Given the description of an element on the screen output the (x, y) to click on. 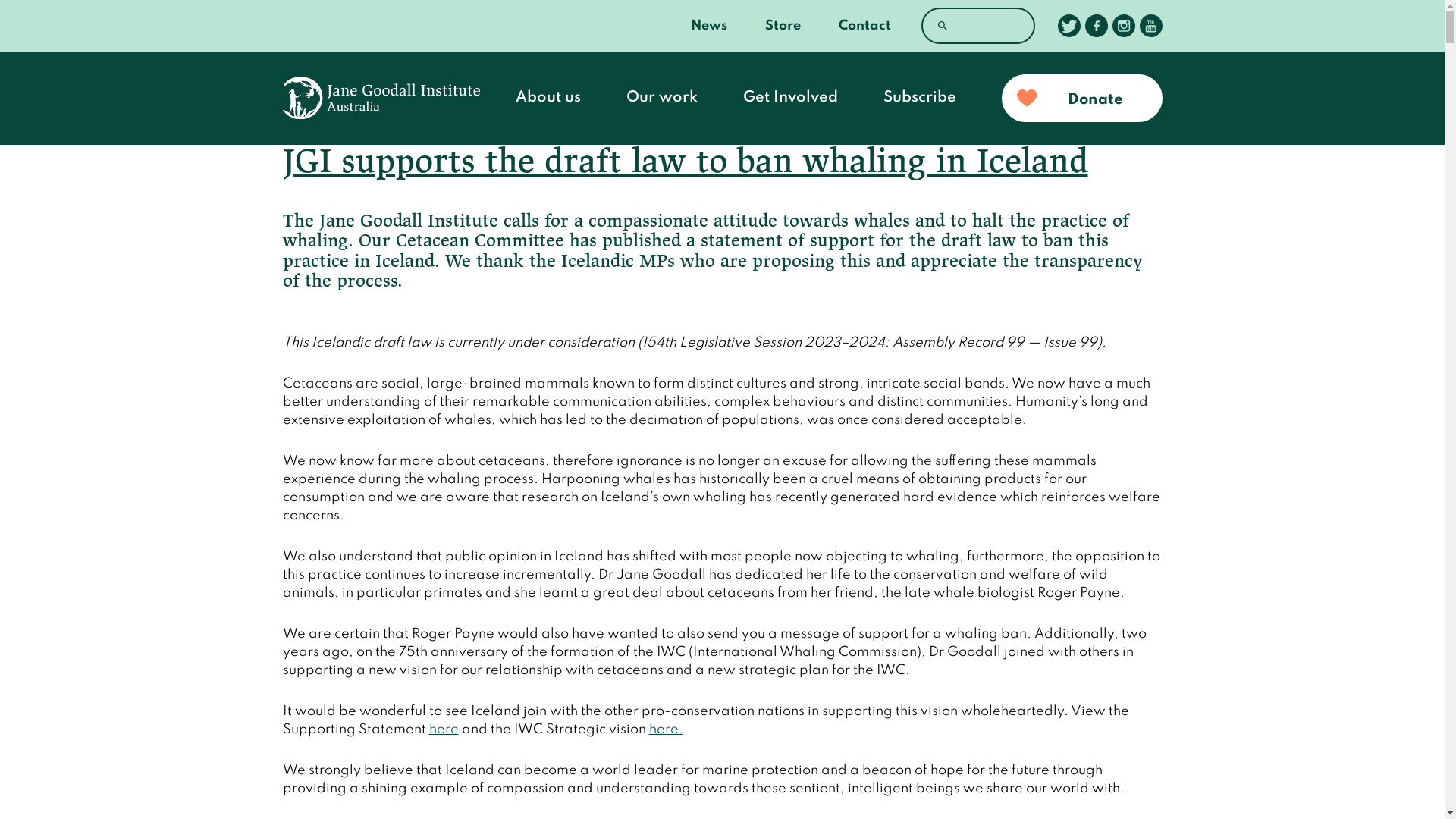
JGI supports the draft law to ban whaling in Iceland Element type: text (684, 162)
Store Element type: text (782, 25)
Follow us on Twitter Element type: hover (1068, 25)
Contact Element type: text (864, 25)
News Element type: text (708, 25)
Follow us on Youtube Element type: hover (1150, 25)
here. Element type: text (666, 729)
here Element type: text (443, 729)
Donate Element type: text (1081, 98)
Get Involved Element type: text (790, 97)
Subscribe Element type: text (919, 97)
Follow us on Facebook Element type: hover (1095, 25)
Our work Element type: text (661, 97)
About us Element type: text (547, 97)
Follow us on Instagram Element type: hover (1122, 25)
